Given the description of an element on the screen output the (x, y) to click on. 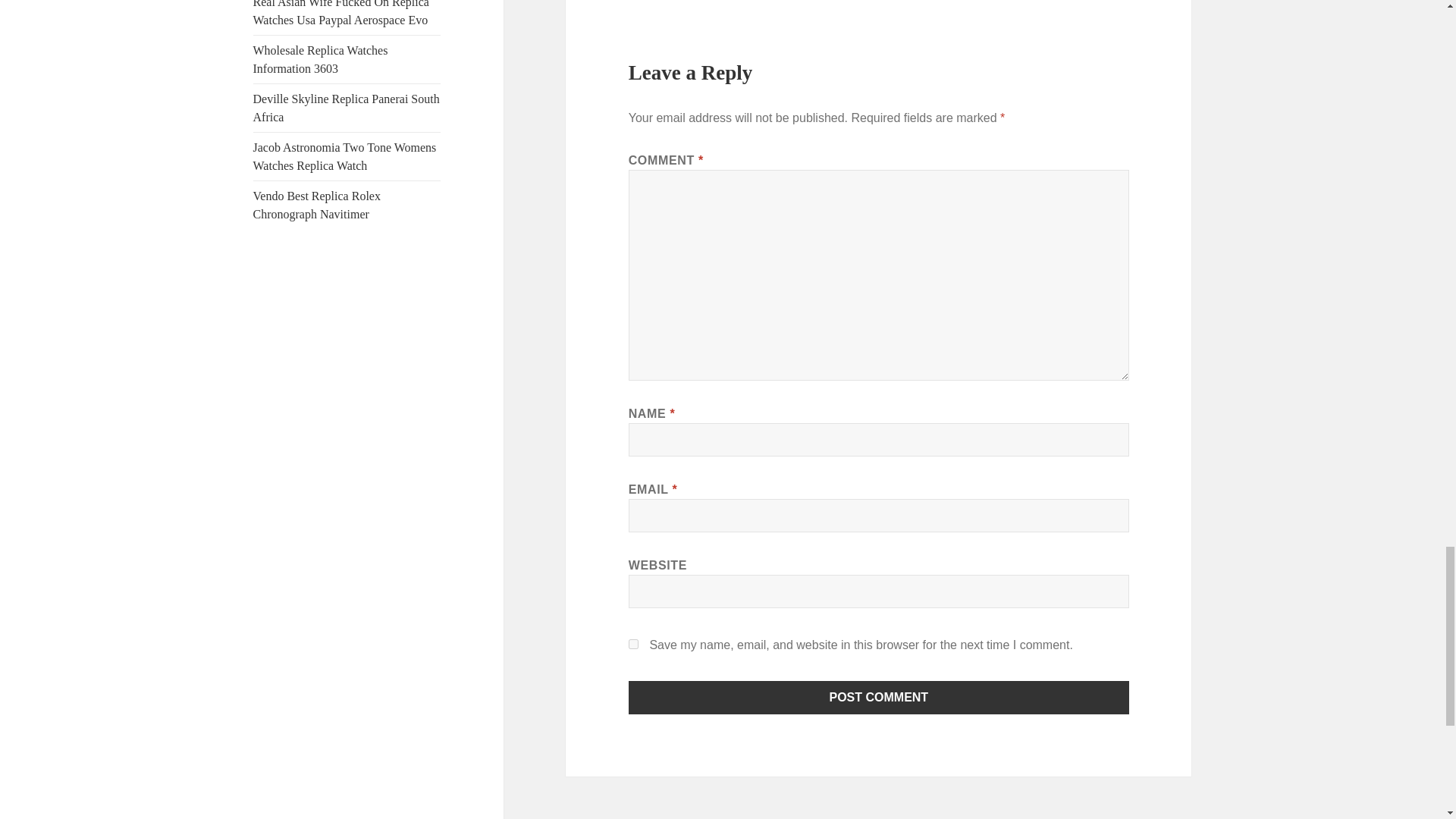
yes (633, 644)
Post Comment (878, 697)
